Given the description of an element on the screen output the (x, y) to click on. 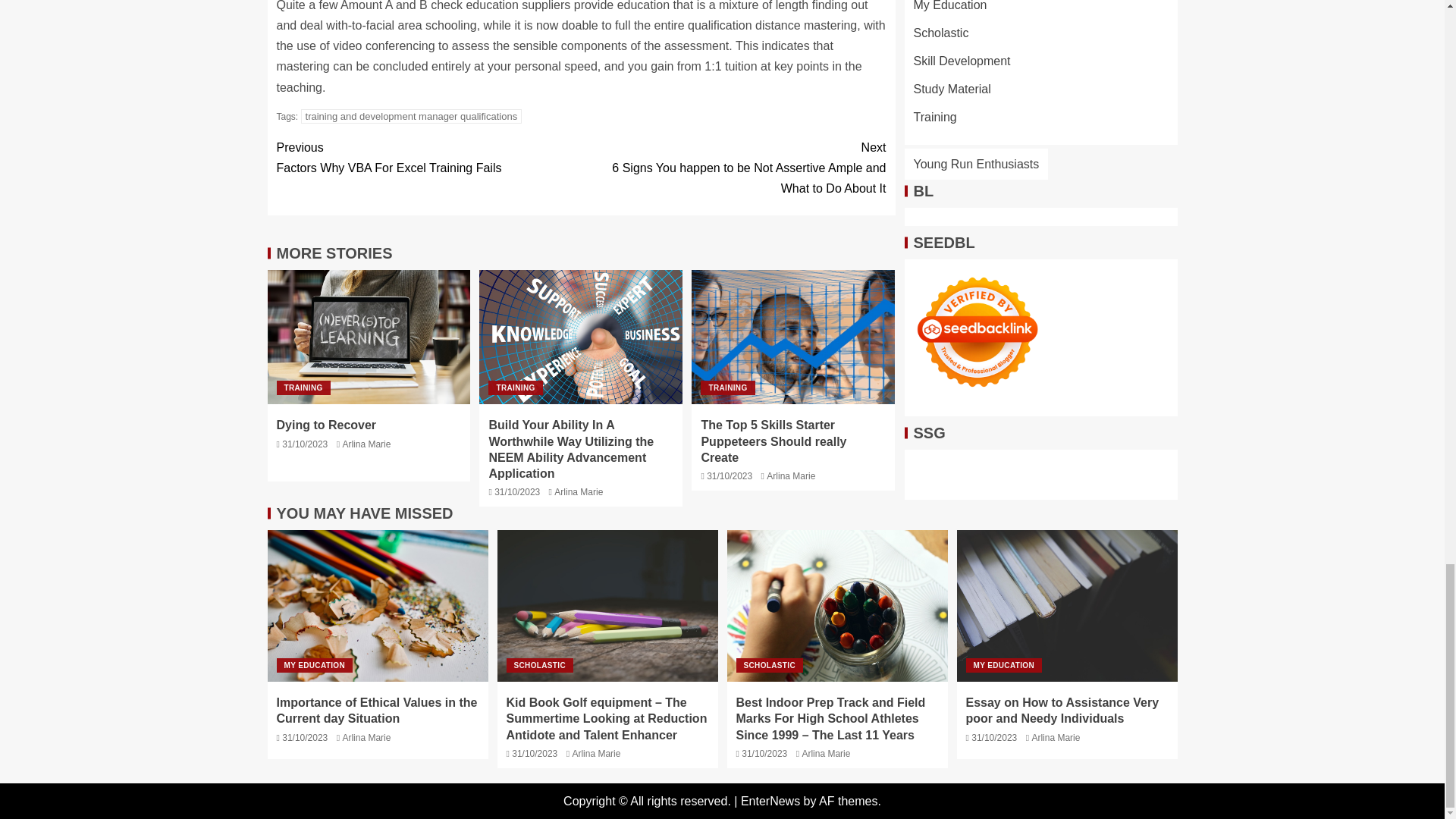
Arlina Marie (578, 491)
TRAINING (303, 387)
training and development manager qualifications (411, 115)
The Top 5 Skills Starter Puppeteers Should really Create (772, 441)
Arlina Marie (791, 475)
Arlina Marie (366, 443)
Essay on How to Assistance Very poor and Needy Individuals (1066, 605)
Dying to Recover (325, 424)
TRAINING (428, 157)
The Top 5 Skills Starter Puppeteers Should really Create (727, 387)
TRAINING (793, 337)
Dying to Recover (514, 387)
